Given the description of an element on the screen output the (x, y) to click on. 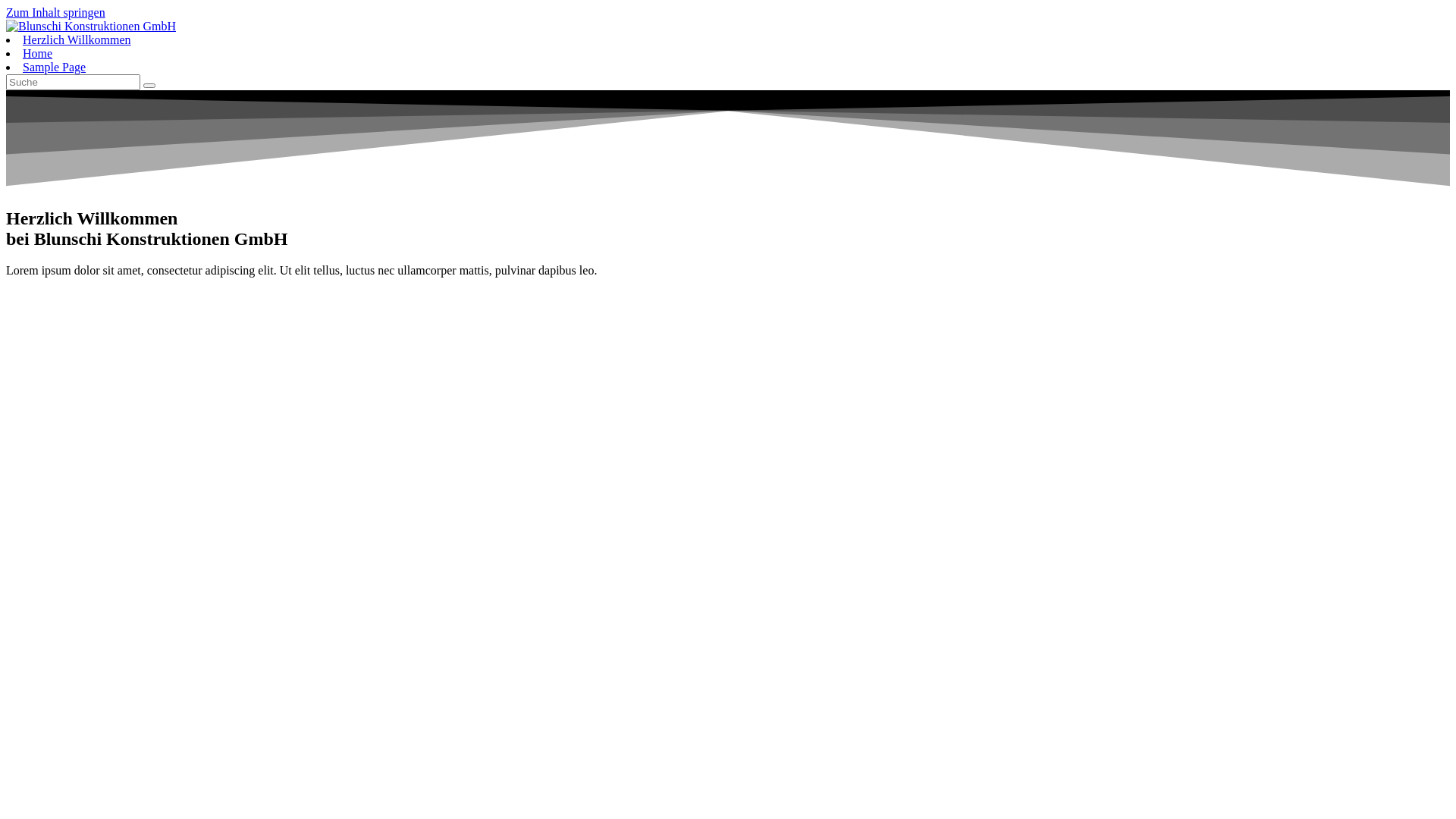
Herzlich Willkommen Element type: text (76, 39)
Sample Page Element type: text (53, 66)
Zum Inhalt springen Element type: text (55, 12)
Home Element type: text (37, 53)
